Given the description of an element on the screen output the (x, y) to click on. 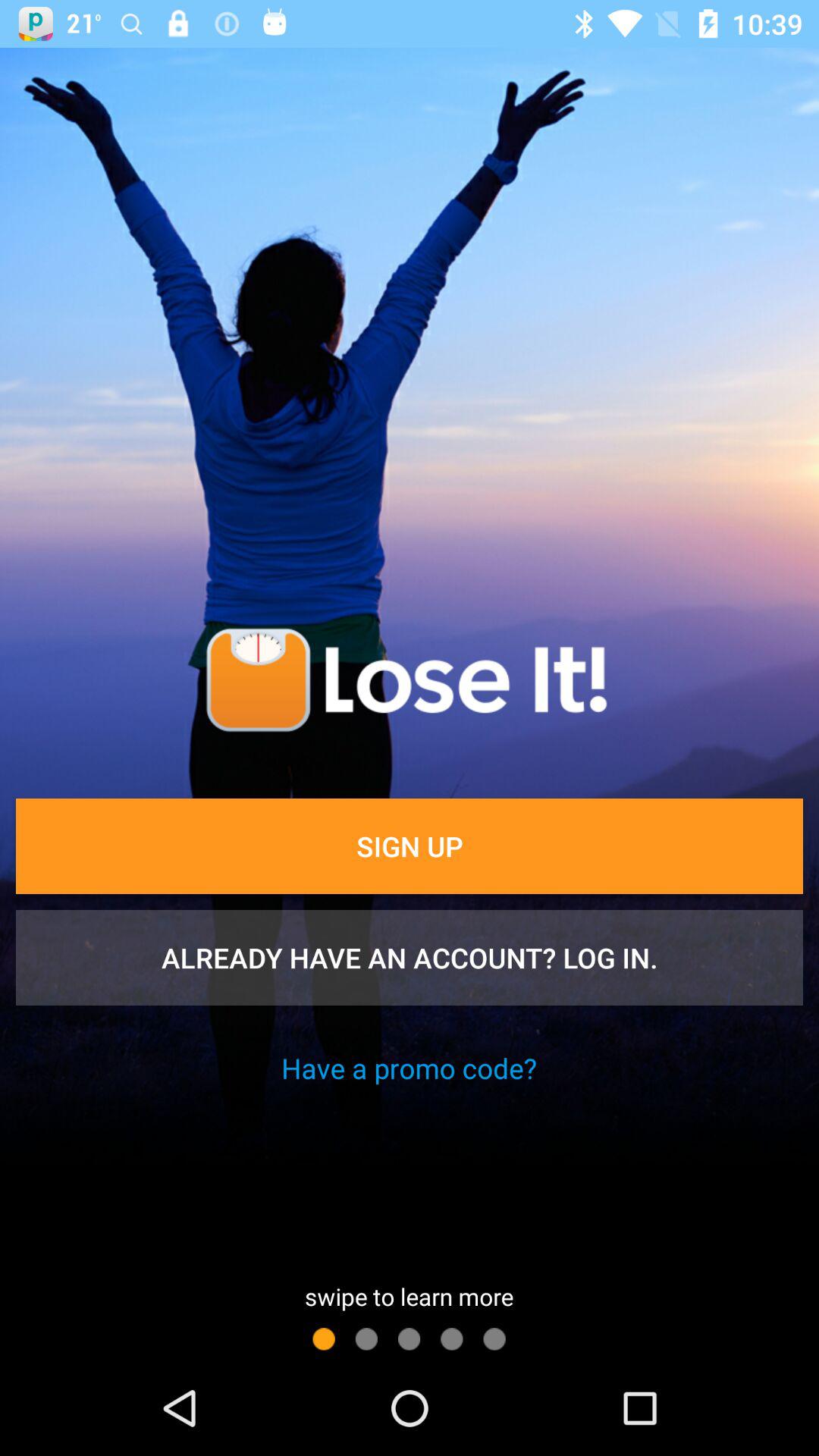
turn off icon above have a promo (409, 957)
